Given the description of an element on the screen output the (x, y) to click on. 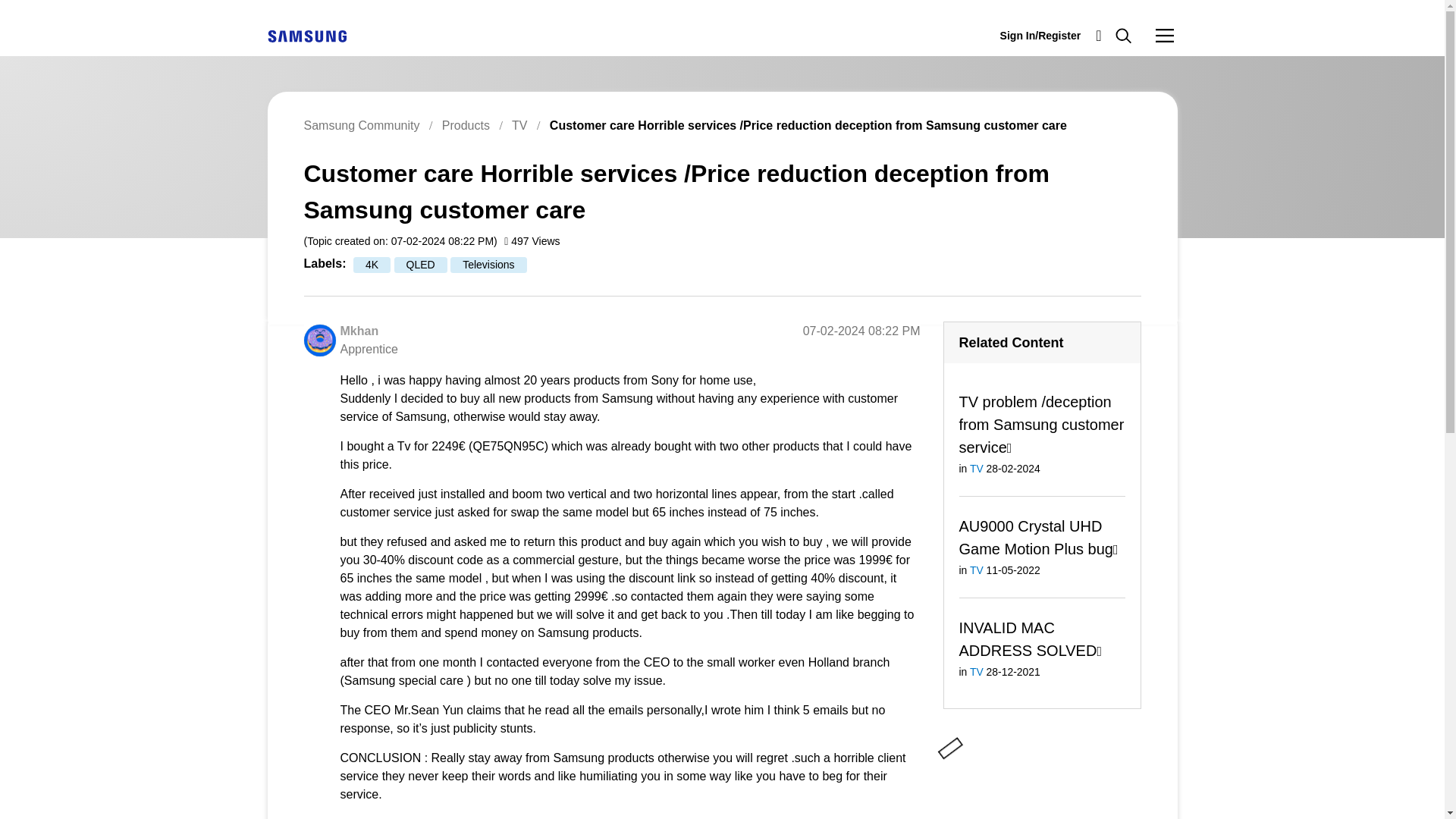
Mkhan (358, 330)
TV (519, 124)
4K (371, 264)
Community (1164, 35)
QLED (420, 264)
Mkhan (318, 340)
English (306, 34)
Samsung Community (360, 124)
English (306, 36)
Products (465, 124)
Televisions (487, 264)
